Given the description of an element on the screen output the (x, y) to click on. 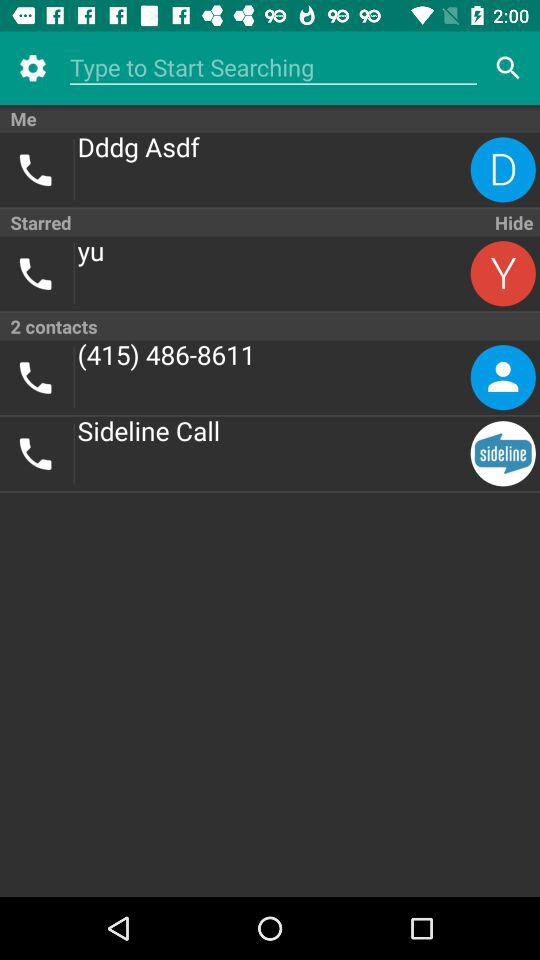
type to search contact list (273, 67)
